Given the description of an element on the screen output the (x, y) to click on. 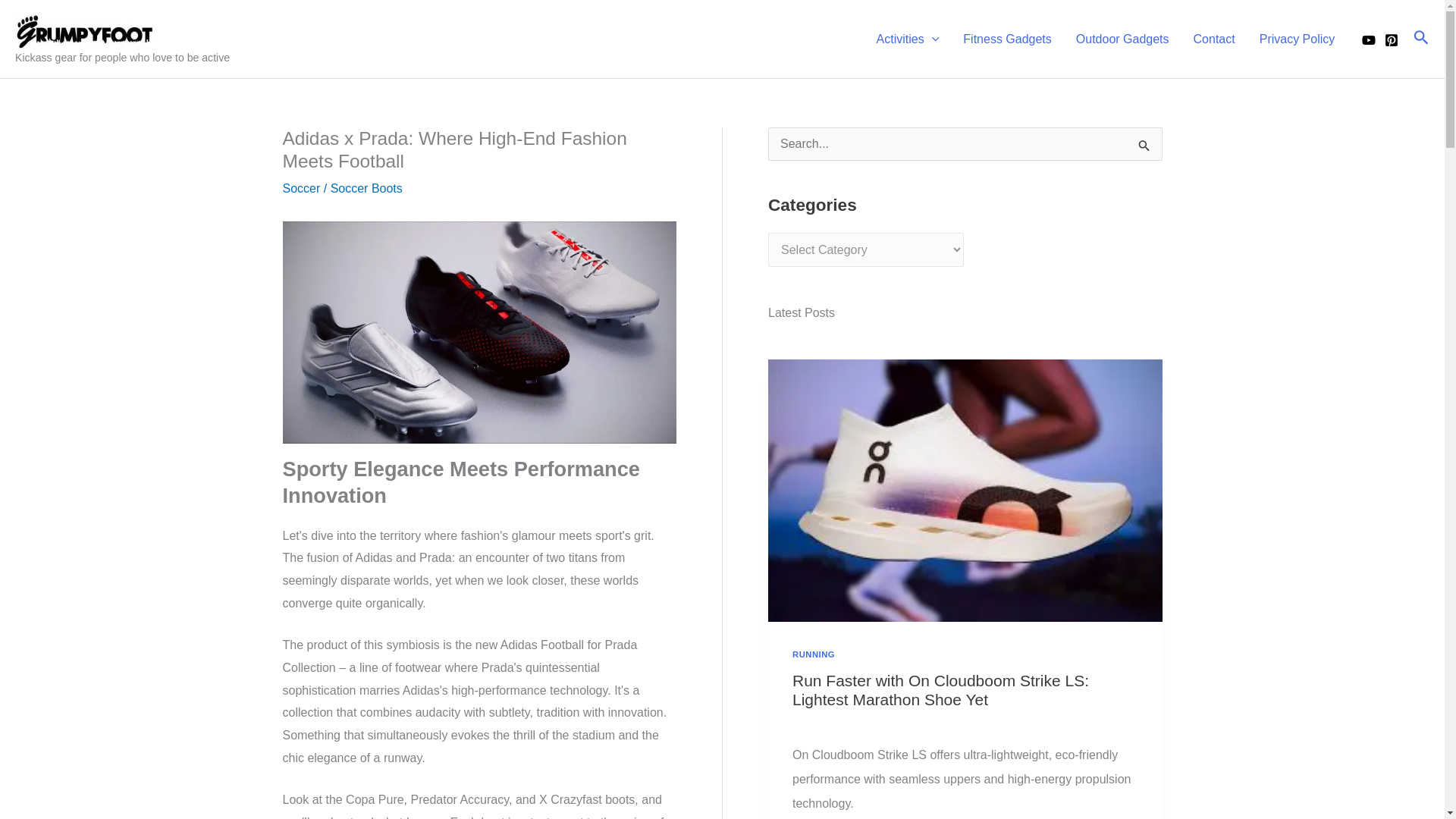
Activities (908, 39)
